Given the description of an element on the screen output the (x, y) to click on. 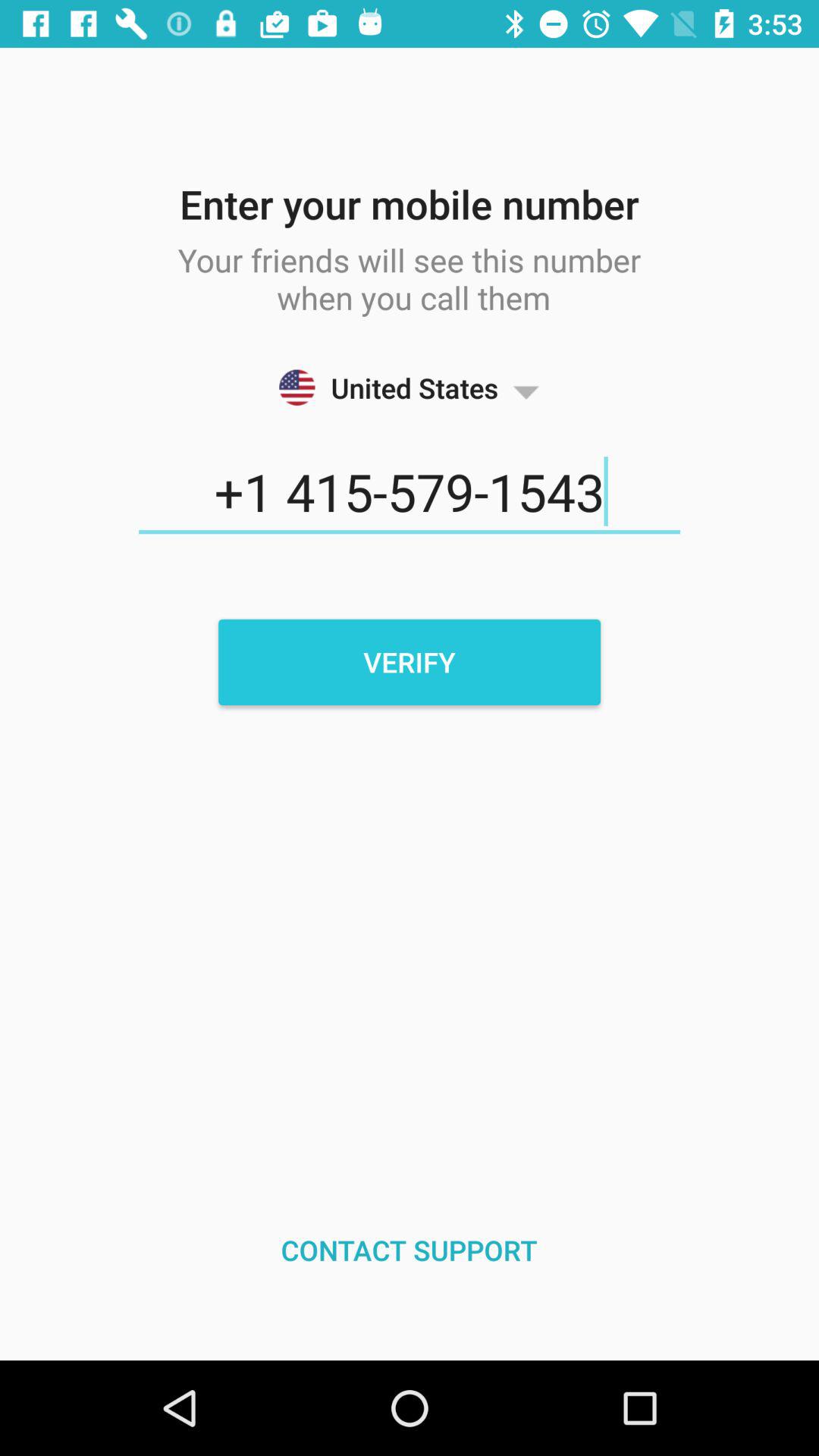
jump to verify (409, 662)
